Given the description of an element on the screen output the (x, y) to click on. 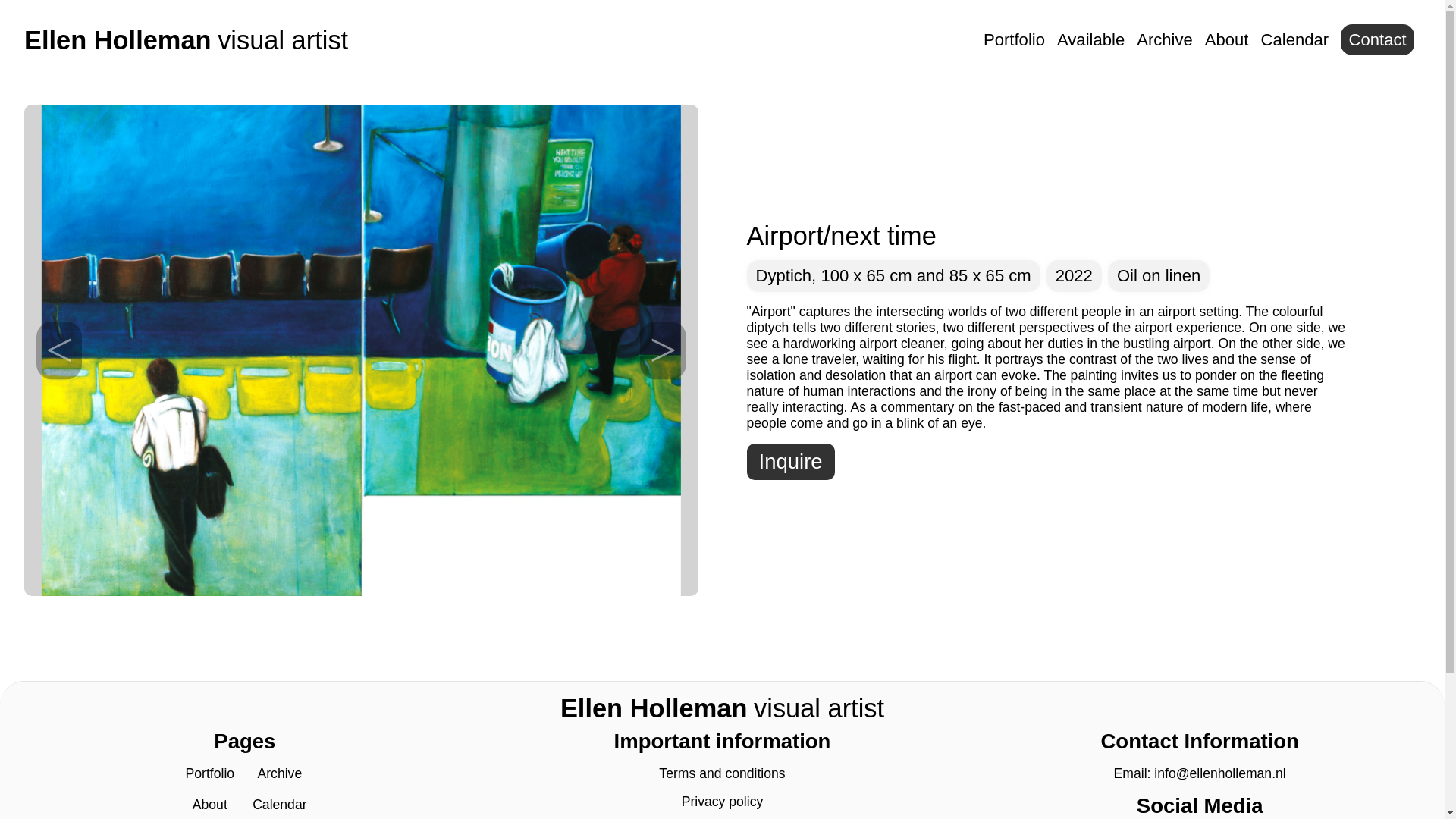
Portfolio (210, 773)
Privacy policy (721, 801)
Available (1090, 39)
Calendar (1294, 39)
Calendar (278, 804)
Portfolio (1014, 39)
Archive (279, 773)
Inquire (789, 461)
About (1227, 39)
Contact (1376, 39)
About (209, 804)
Terms and conditions (185, 40)
Archive (721, 773)
